Given the description of an element on the screen output the (x, y) to click on. 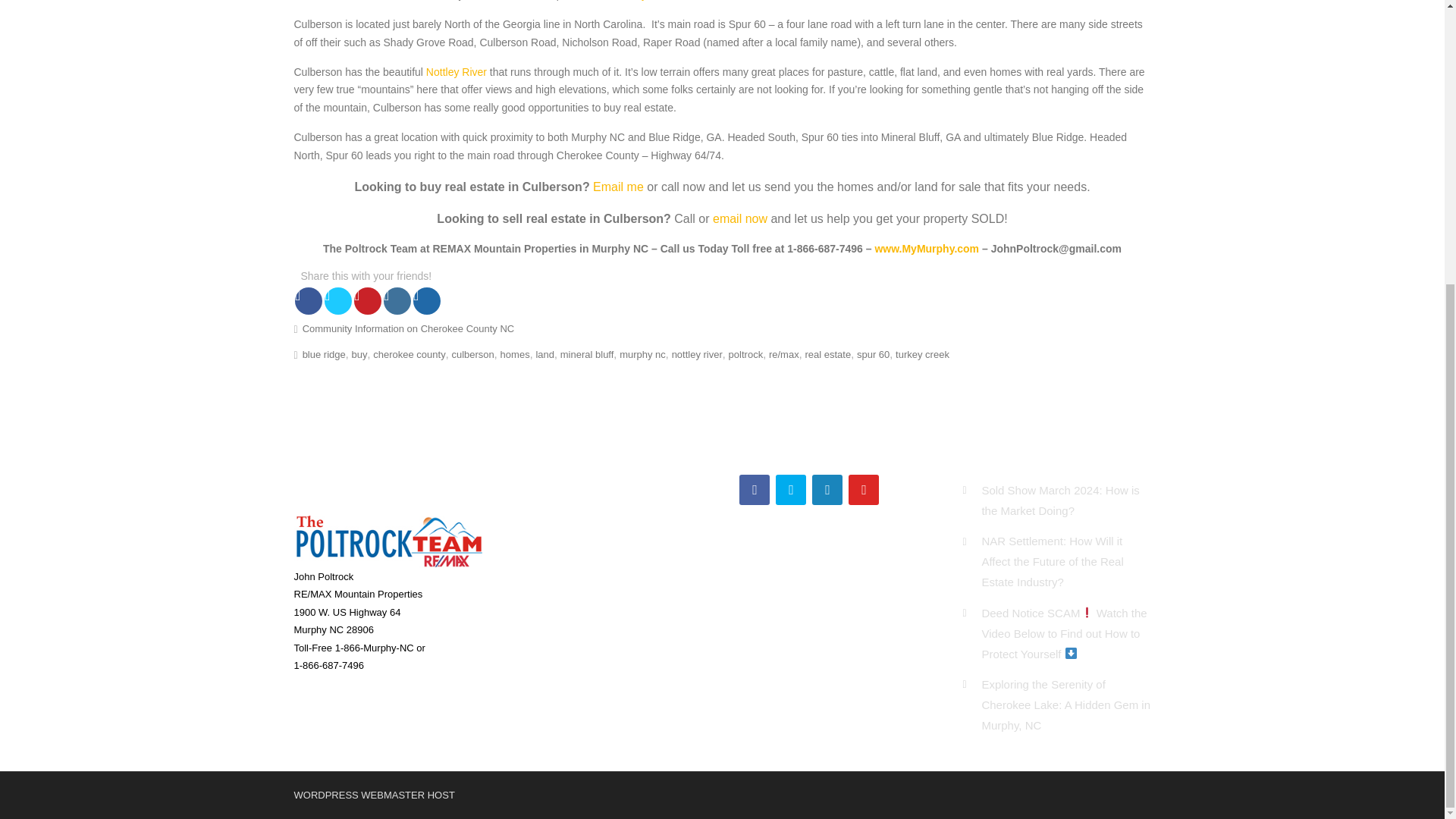
Share on Pinterest (367, 300)
Information on the Nottley River in Murphy NC (456, 71)
Share on LinkedIn (397, 300)
Twitter (791, 490)
Share on Digg (427, 300)
Facebook (754, 490)
Share on Facebook (308, 300)
Homes and Land for Sale in the Mountains of Murphy NC (926, 248)
LinkedIn (827, 490)
Share on Twitter (338, 300)
Turkey Creek Development with Nottley River Front and Access (646, 0)
YouTube (863, 490)
